Given the description of an element on the screen output the (x, y) to click on. 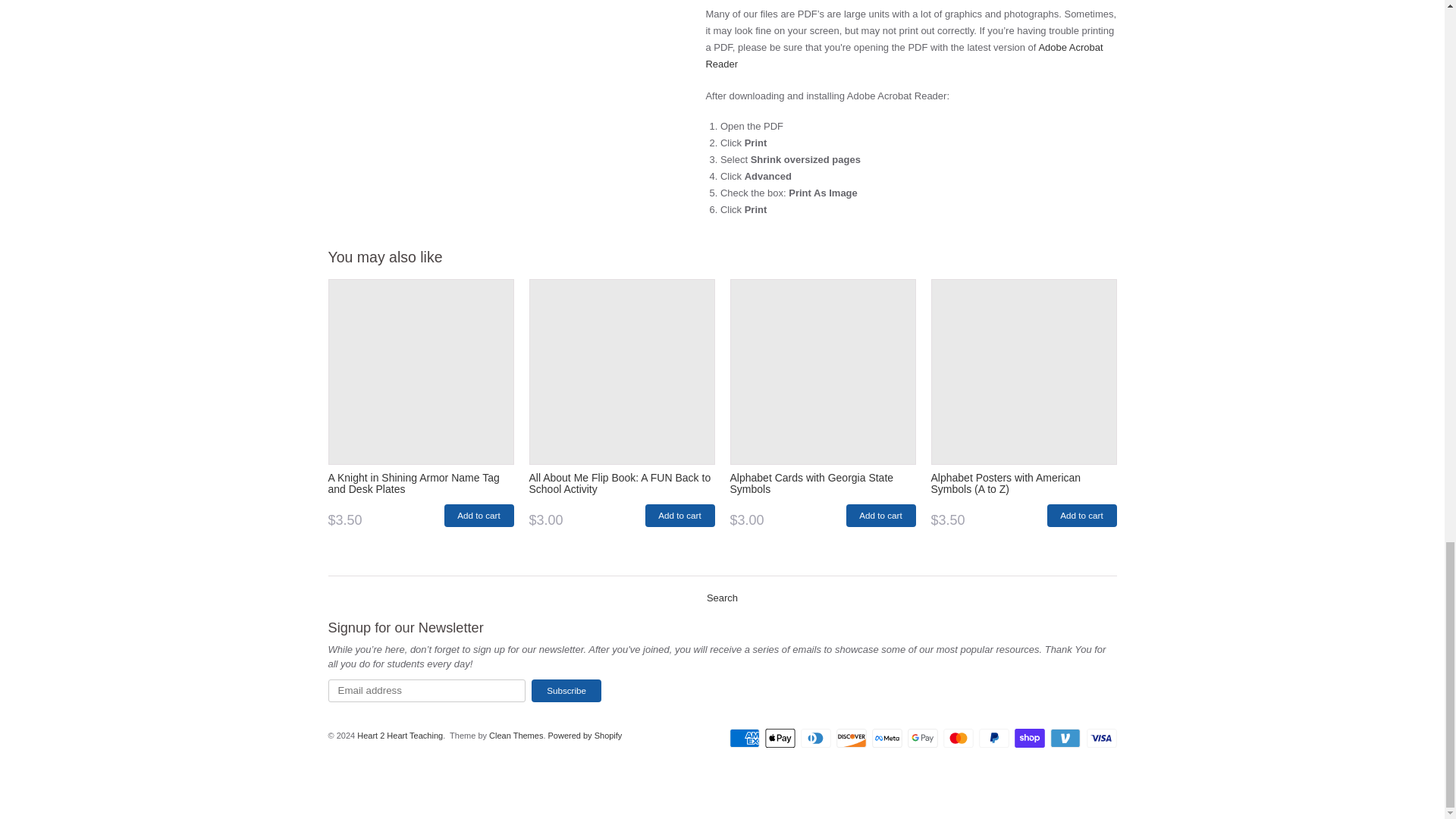
Diners Club (815, 737)
Discover (850, 737)
American Express (744, 737)
Add to cart (478, 515)
Google Pay (922, 737)
Meta Pay (887, 737)
Visa (1101, 737)
Shop Pay (1029, 737)
Mastercard (958, 737)
Venmo (1064, 737)
Subscribe (566, 690)
Add to cart (679, 515)
Add to cart (1081, 515)
Apple Pay (779, 737)
Add to cart (880, 515)
